Given the description of an element on the screen output the (x, y) to click on. 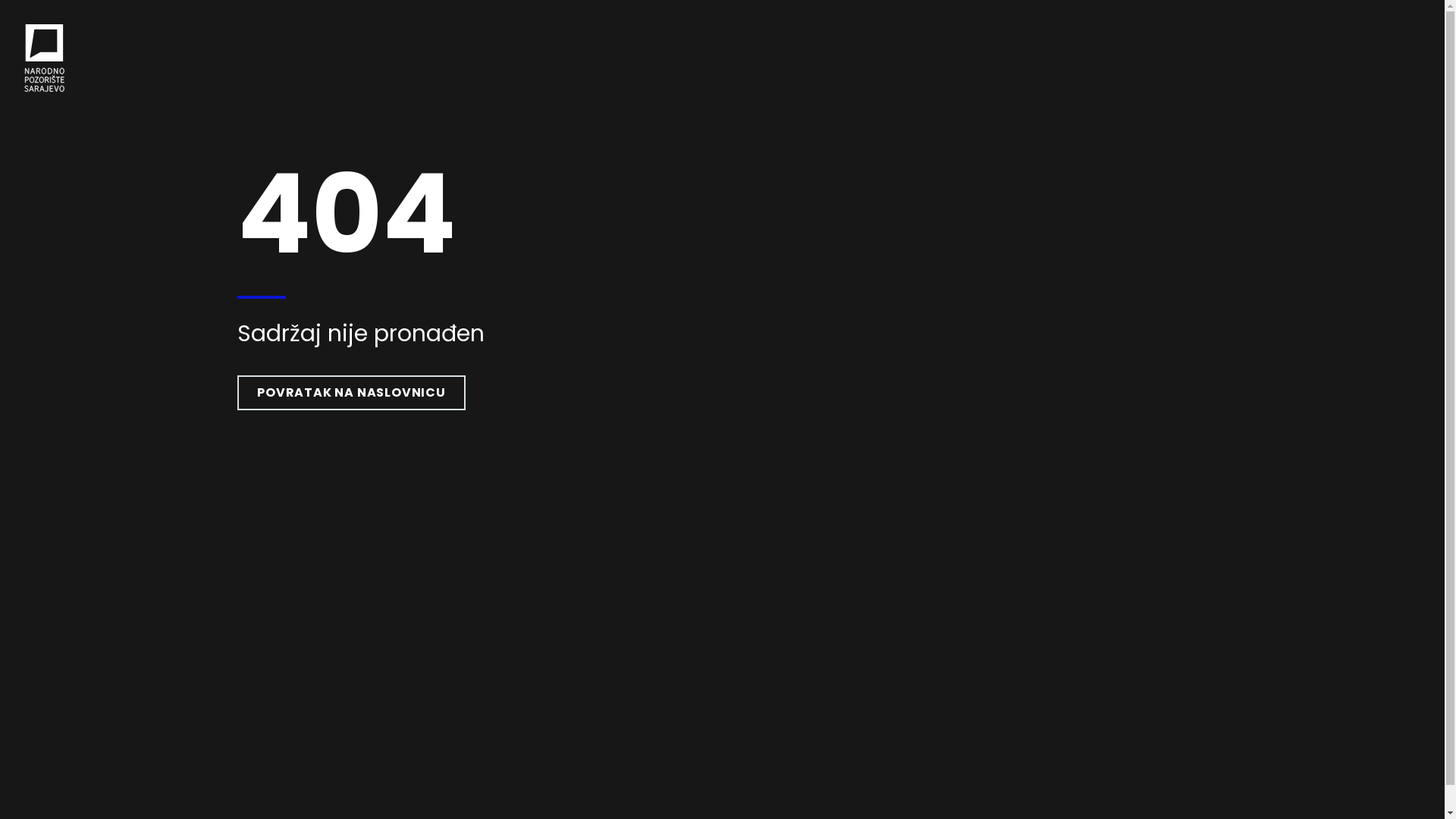
POVRATAK NA NASLOVNICU Element type: text (351, 392)
POVRATAK NA NASLOVNICU Element type: text (351, 392)
